Given the description of an element on the screen output the (x, y) to click on. 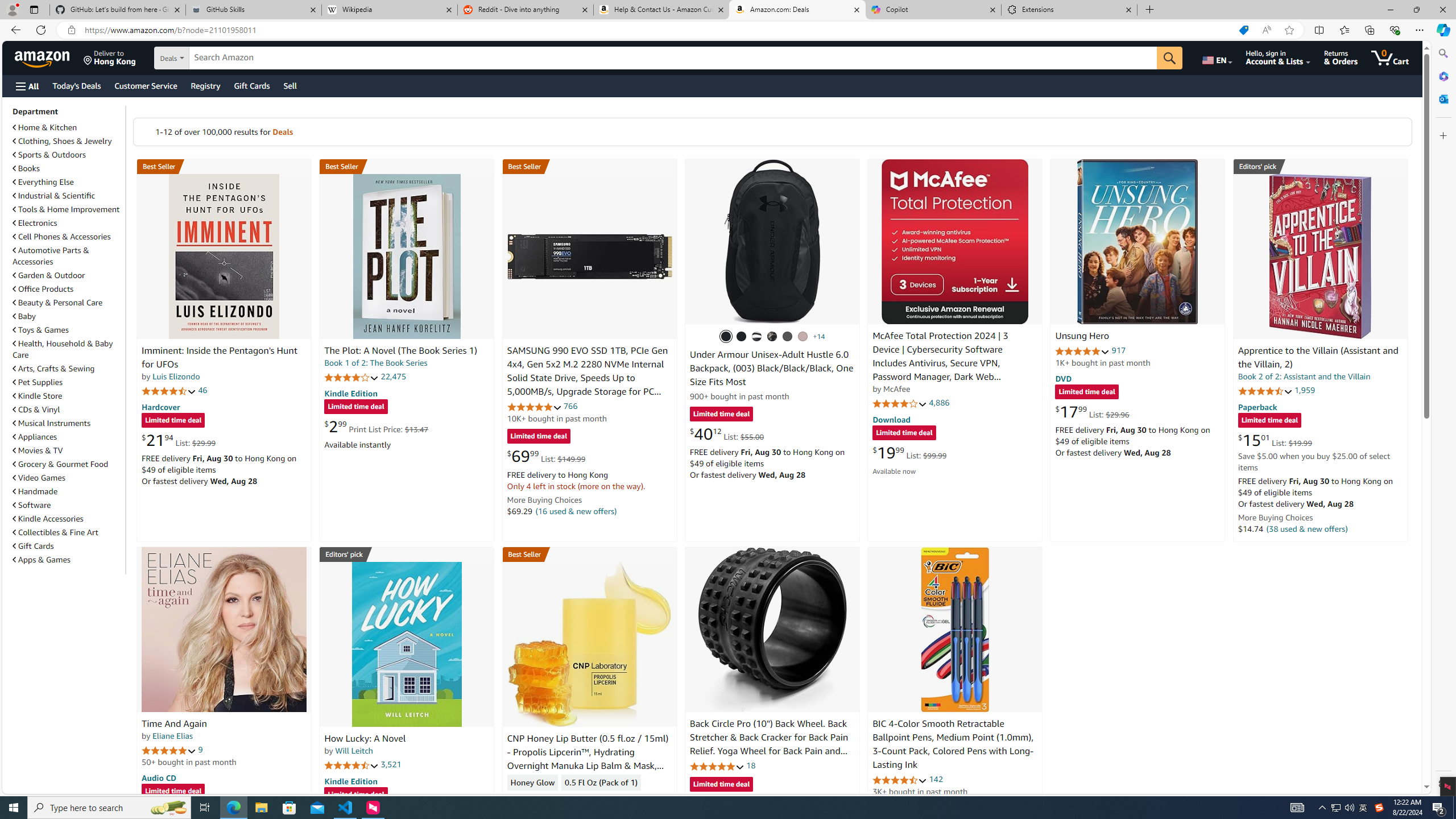
View site information (70, 29)
Apprentice to the Villain (Assistant and the Villain, 2) (1318, 358)
Movies & TV (37, 450)
Collectibles & Fine Art (56, 532)
Handmade (35, 491)
Office Products (67, 288)
46 (203, 390)
App bar (728, 29)
Best Seller in Unexplained Mysteries (223, 165)
+14 (818, 336)
Automotive Parts & Accessories (50, 255)
22,475 (393, 376)
GitHub Skills (253, 9)
